Given the description of an element on the screen output the (x, y) to click on. 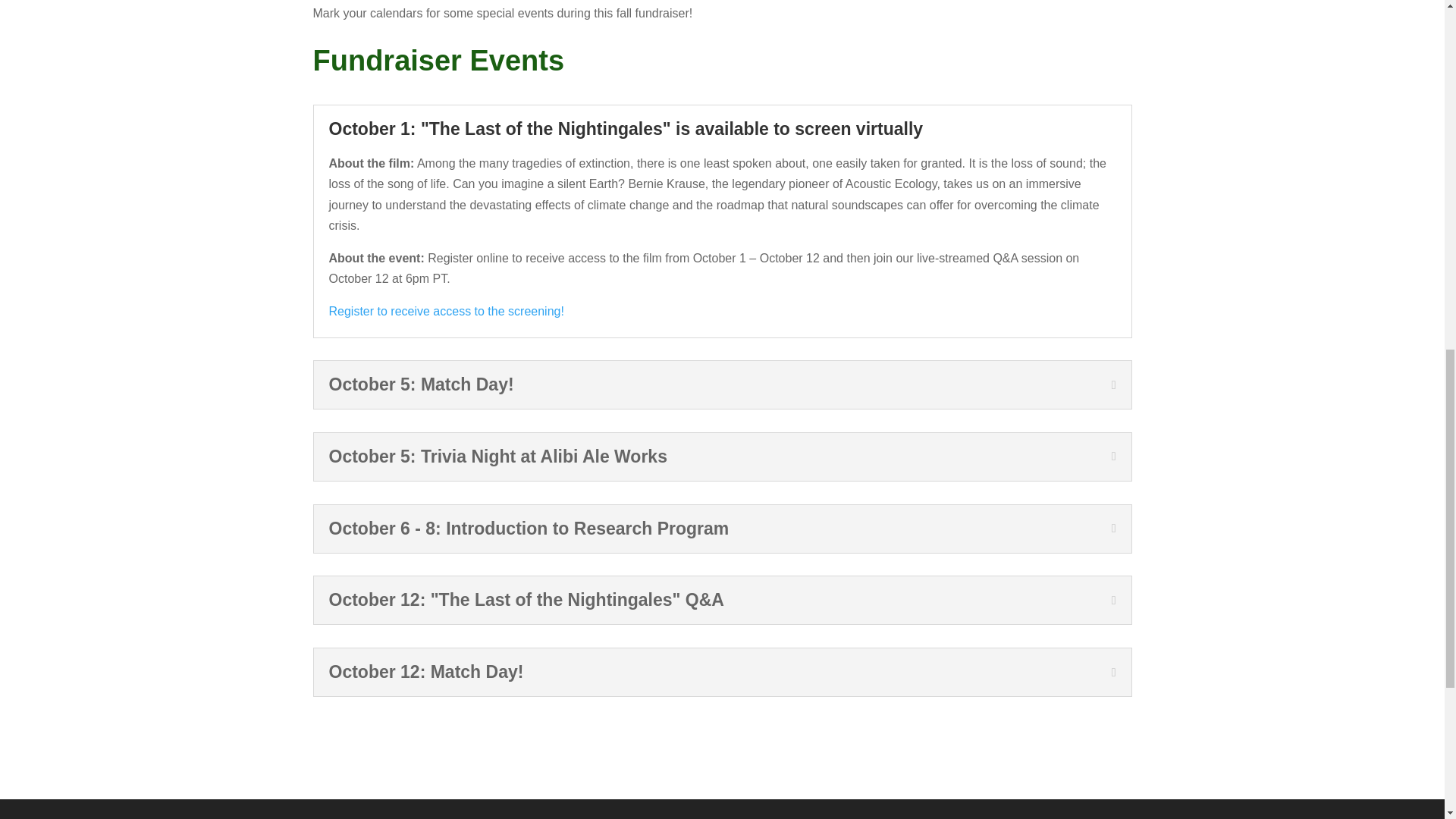
Register to receive access to the screening! (446, 310)
